Given the description of an element on the screen output the (x, y) to click on. 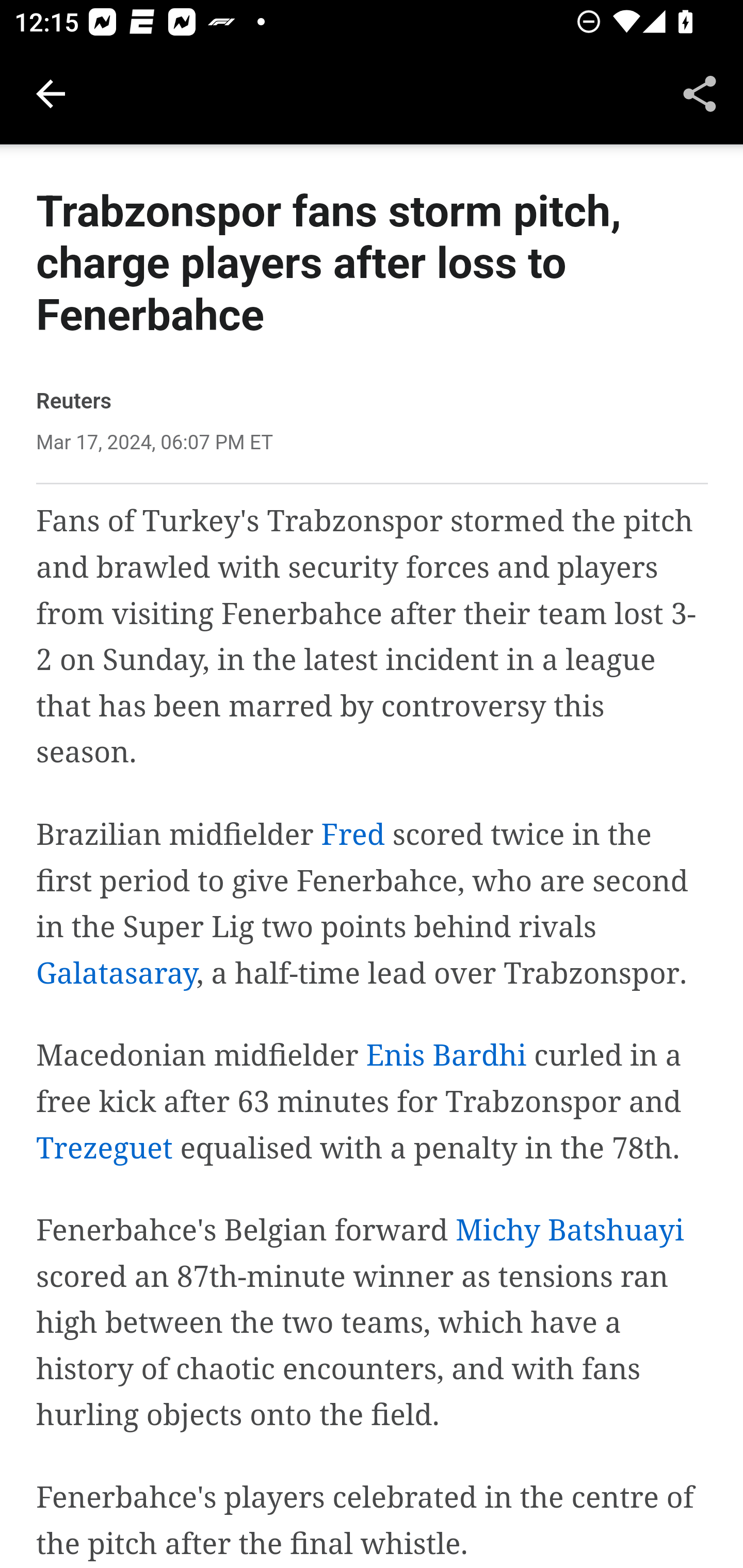
Navigate up (50, 93)
Share (699, 93)
